Given the description of an element on the screen output the (x, y) to click on. 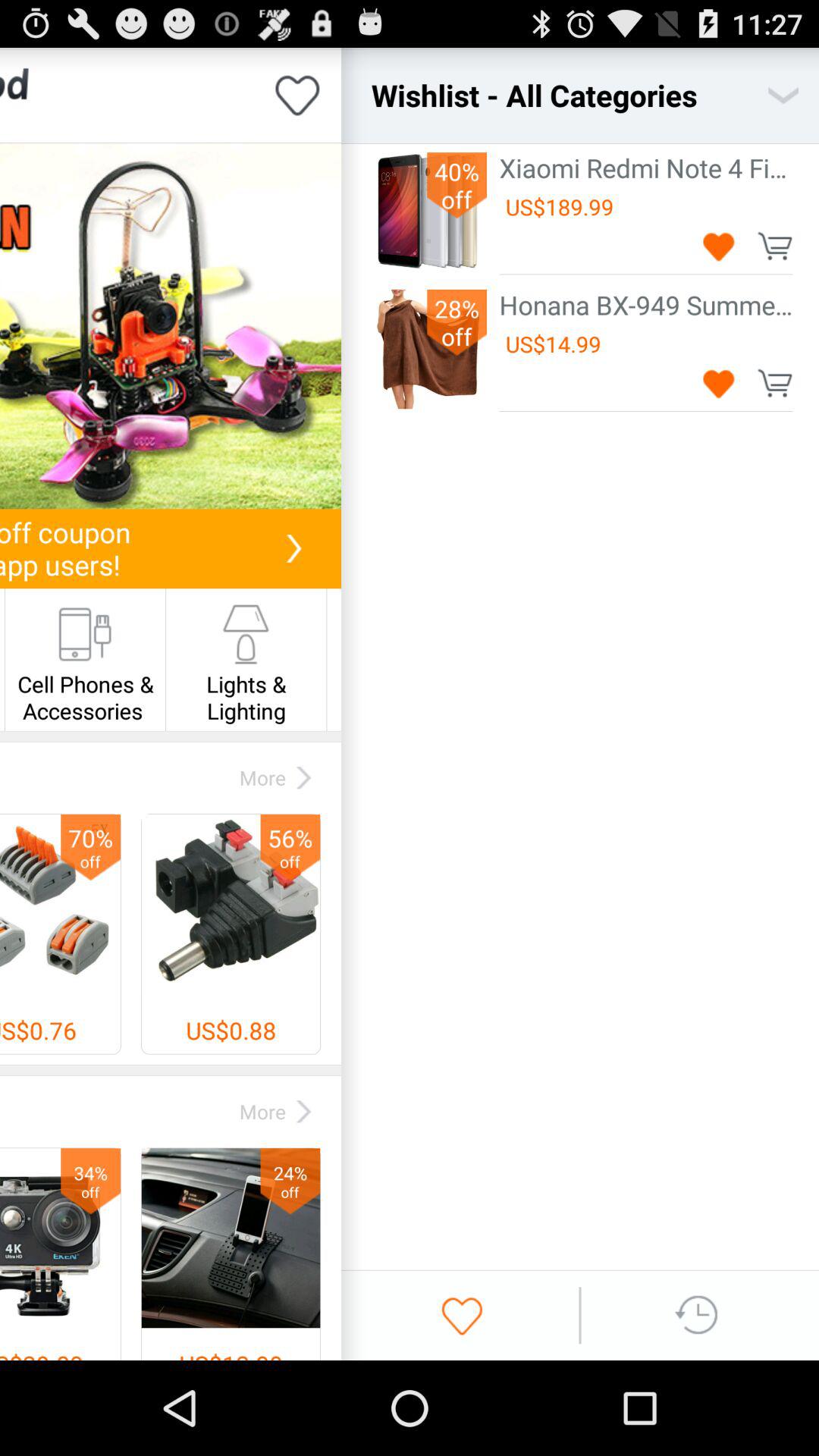
remove this item from wish list (719, 245)
